Given the description of an element on the screen output the (x, y) to click on. 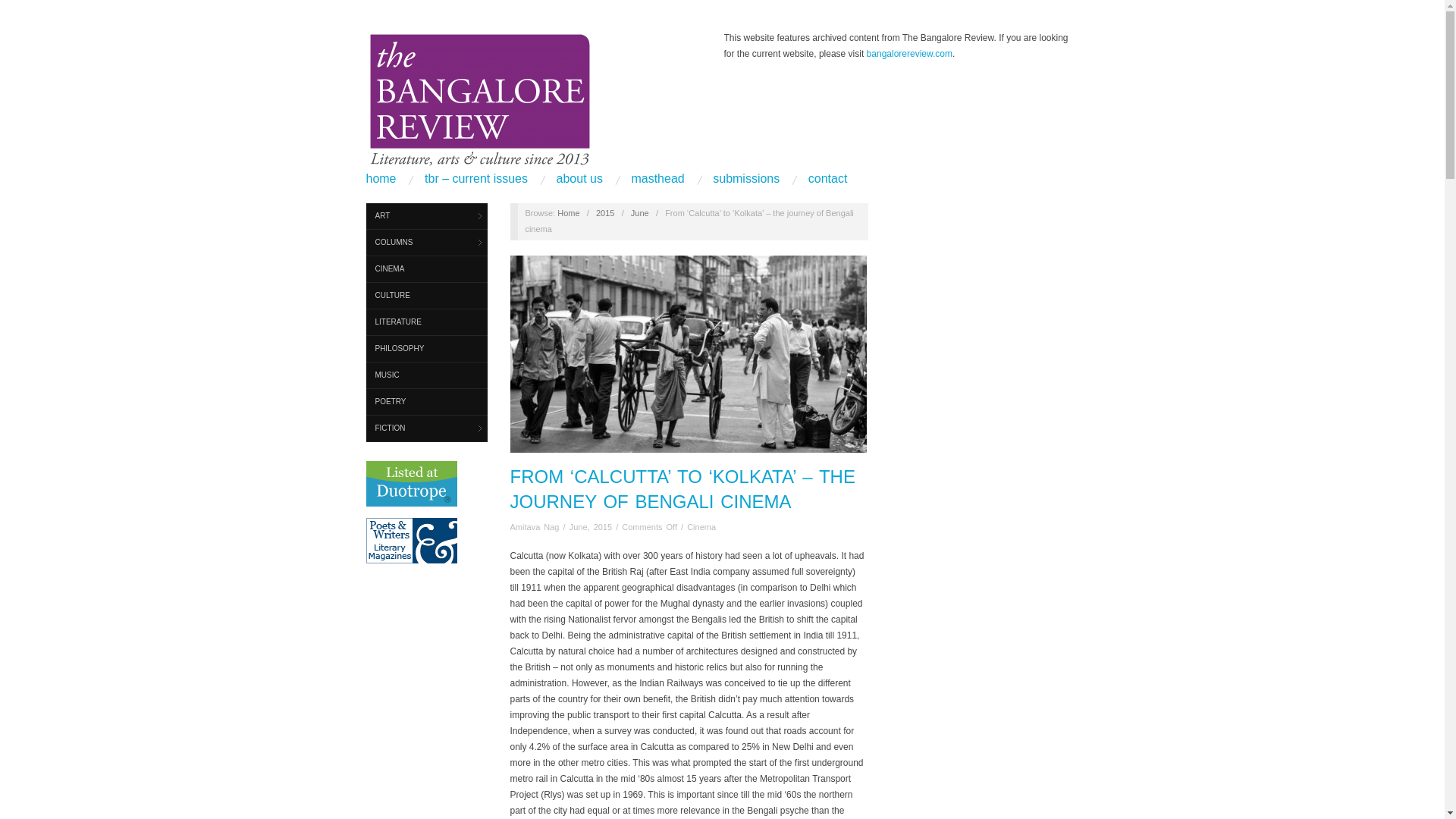
COLUMNS (425, 243)
home (380, 178)
June, 2015 (590, 526)
LITERATURE (425, 322)
contact (827, 178)
June (639, 212)
2015 (604, 212)
bangalorereview.com (909, 53)
Home (568, 212)
Cinema (701, 526)
ART (425, 216)
masthead (657, 178)
CINEMA (425, 269)
about us (579, 178)
submissions (745, 178)
